Given the description of an element on the screen output the (x, y) to click on. 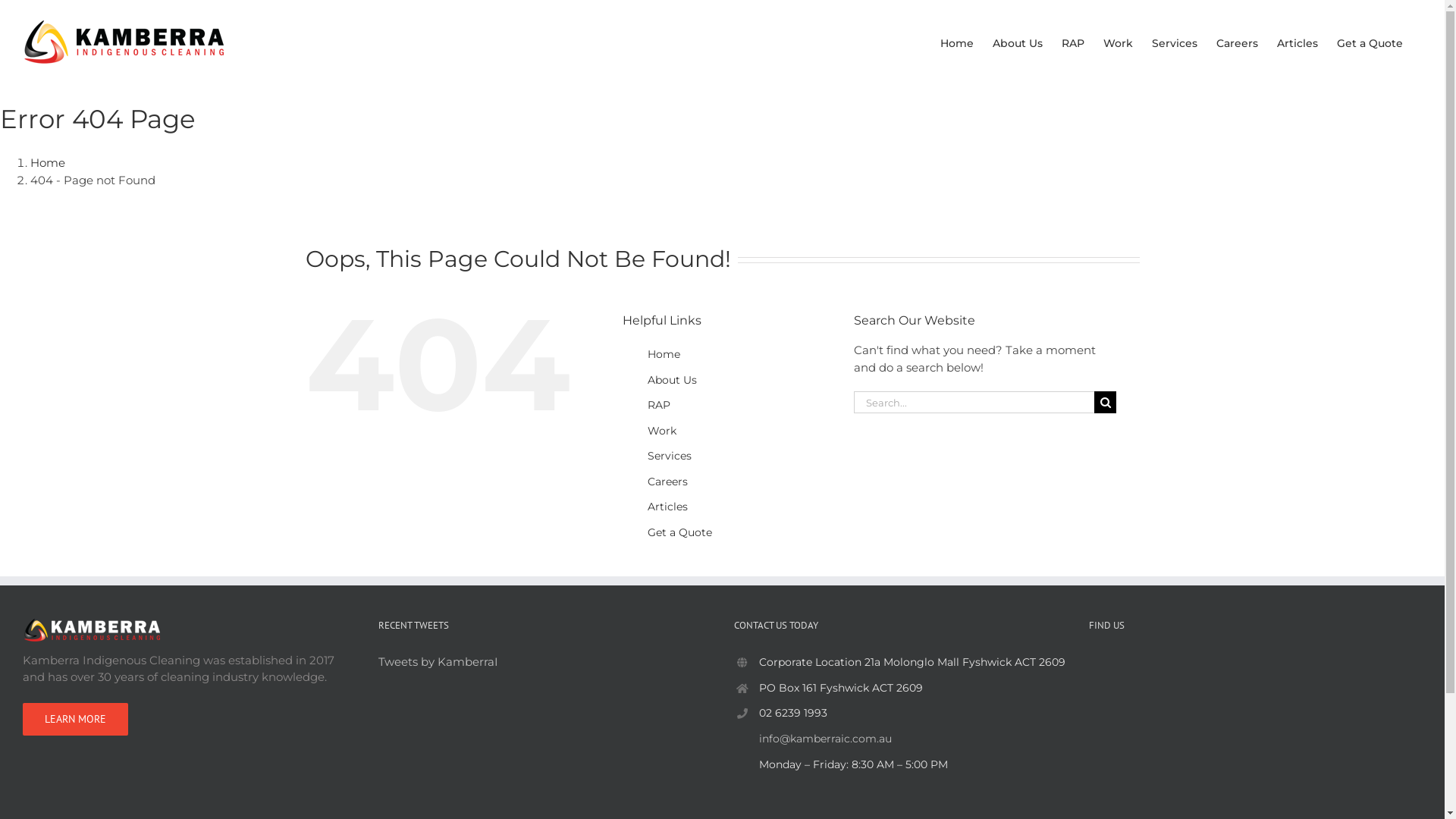
Work Element type: text (1117, 41)
Careers Element type: text (667, 481)
Careers Element type: text (1237, 41)
Articles Element type: text (1297, 41)
Get a Quote Element type: text (1369, 41)
Work Element type: text (661, 430)
Tweets by KamberraI Element type: text (438, 661)
Home Element type: text (663, 353)
RAP Element type: text (658, 404)
RAP Element type: text (1072, 41)
Home Element type: text (956, 41)
About Us Element type: text (671, 379)
info@kamberraic.com.au Element type: text (912, 739)
Articles Element type: text (667, 506)
Home Element type: text (47, 162)
Get a Quote Element type: text (679, 532)
About Us Element type: text (1017, 41)
Services Element type: text (1174, 41)
Services Element type: text (669, 455)
LEARN MORE Element type: text (75, 718)
